Given the description of an element on the screen output the (x, y) to click on. 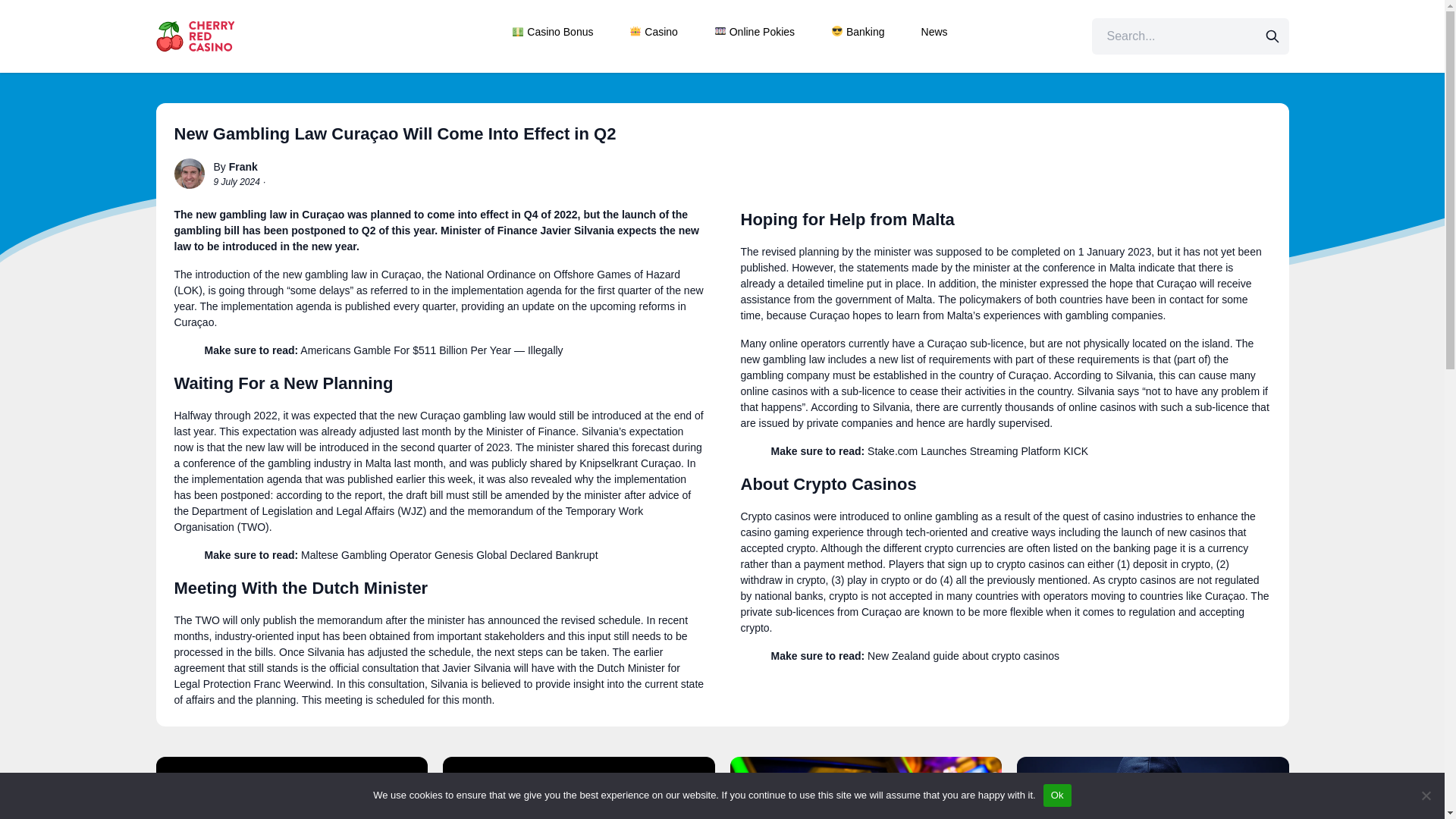
No (1425, 795)
